Given the description of an element on the screen output the (x, y) to click on. 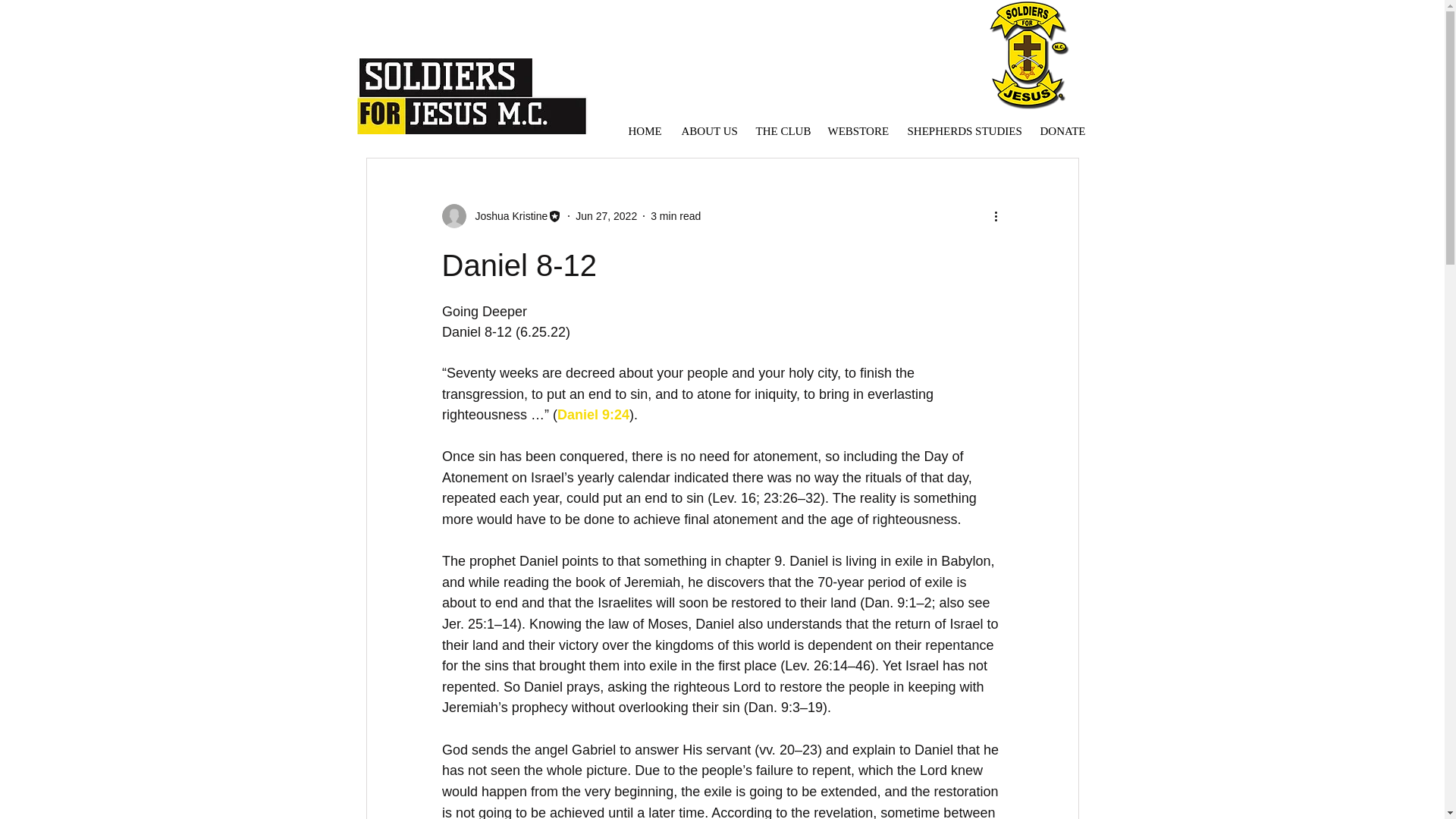
Daniel 9:24 (592, 414)
SHEPHERDS STUDIES (962, 129)
WEBSTORE (855, 129)
ABOUT US (706, 129)
Joshua Kristine (506, 215)
DONATE (1059, 129)
HOME (643, 129)
3 min read (675, 215)
THE CLUB (780, 129)
Jun 27, 2022 (606, 215)
